Given the description of an element on the screen output the (x, y) to click on. 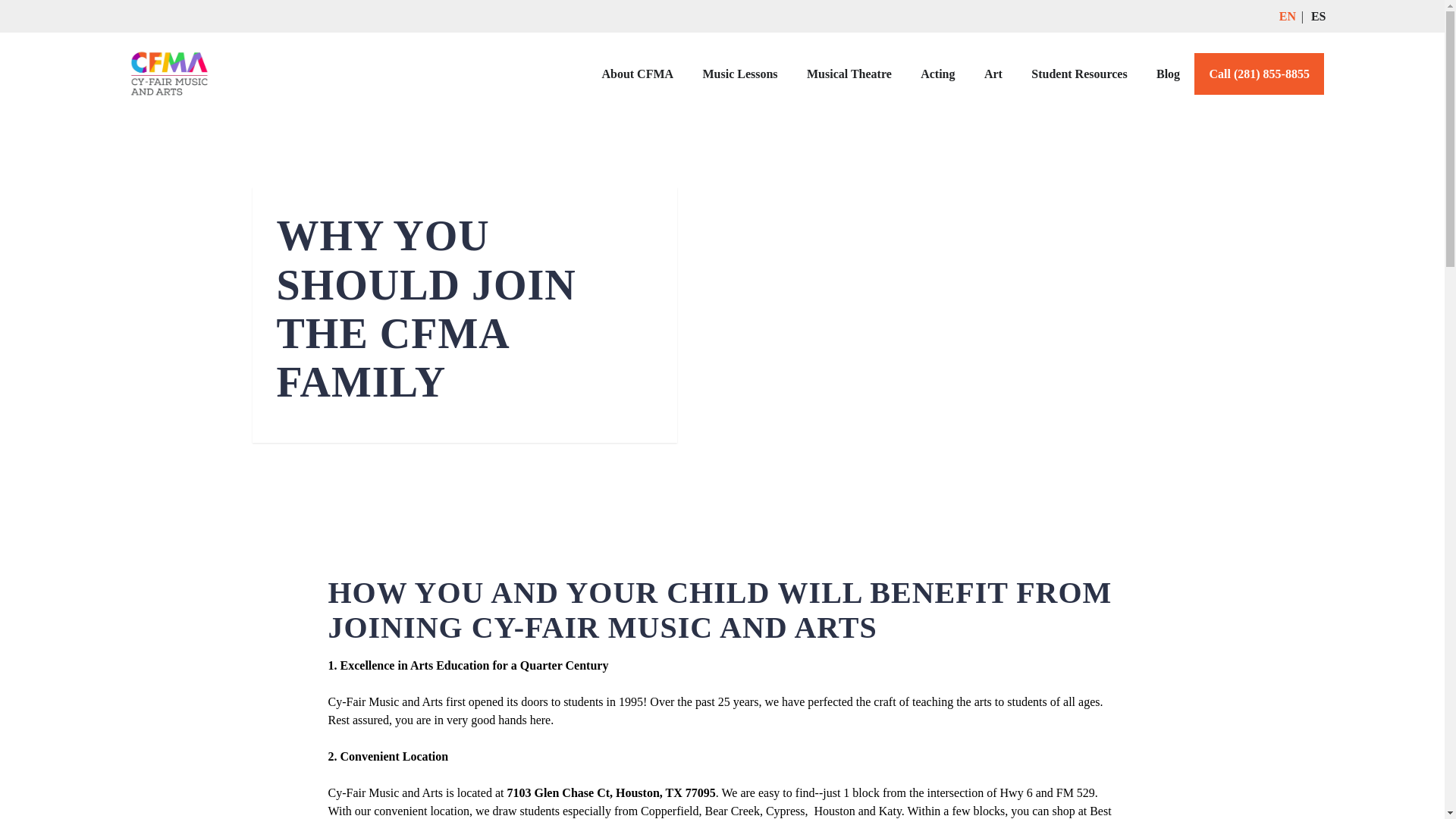
Acting (937, 74)
About CFMA (636, 74)
Musical Theatre (848, 74)
Music Lessons (739, 74)
ES (1318, 15)
EN (1287, 15)
Blog (1167, 74)
Student Resources (1078, 74)
